Given the description of an element on the screen output the (x, y) to click on. 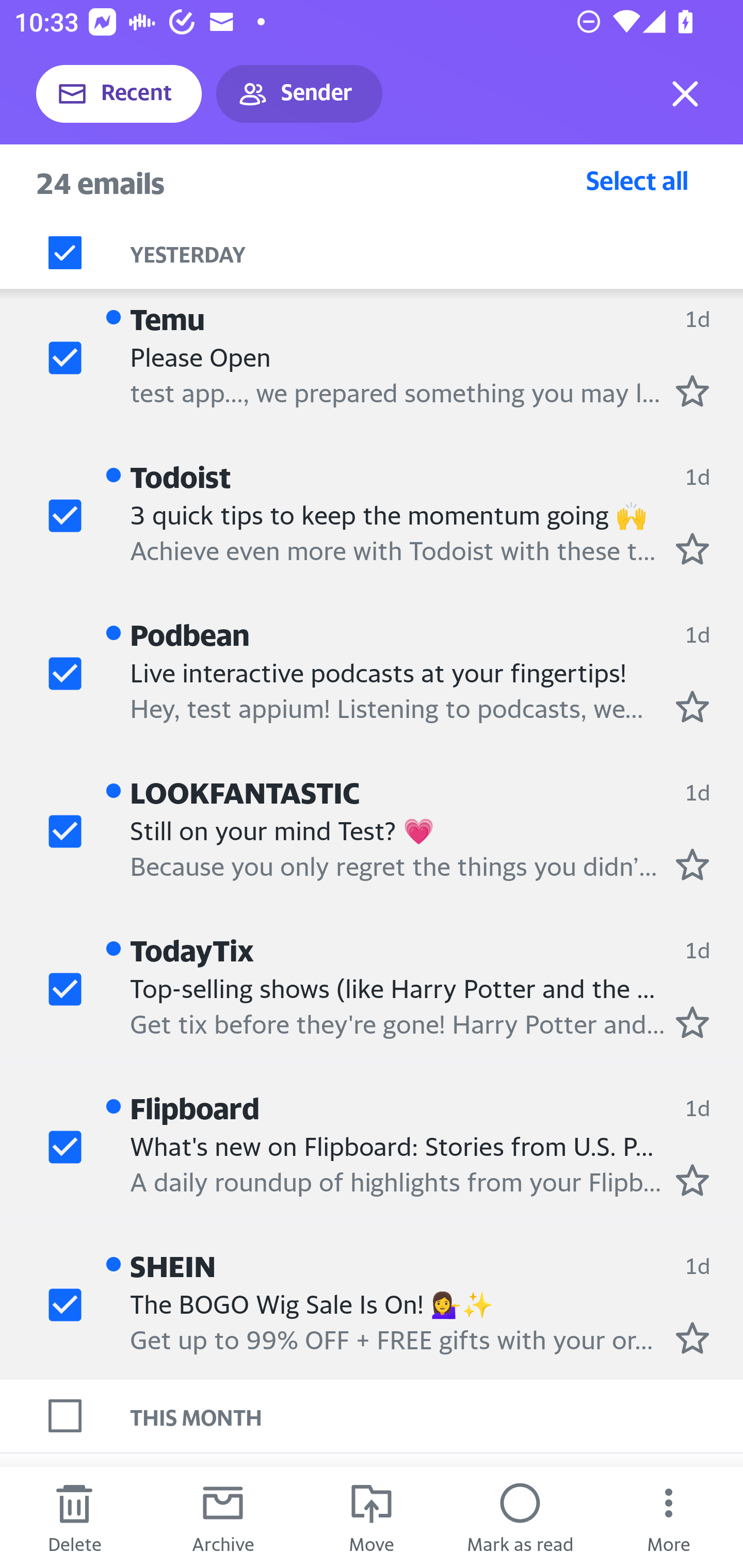
Sender (299, 93)
Exit selection mode (684, 93)
Select all (637, 180)
Mark as starred. (692, 391)
Mark as starred. (692, 548)
Mark as starred. (692, 706)
Mark as starred. (692, 864)
Mark as starred. (692, 1021)
Mark as starred. (692, 1179)
Mark as starred. (692, 1338)
THIS MONTH (436, 1414)
Delete (74, 1517)
Archive (222, 1517)
Move (371, 1517)
Mark as read (519, 1517)
More (668, 1517)
